Given the description of an element on the screen output the (x, y) to click on. 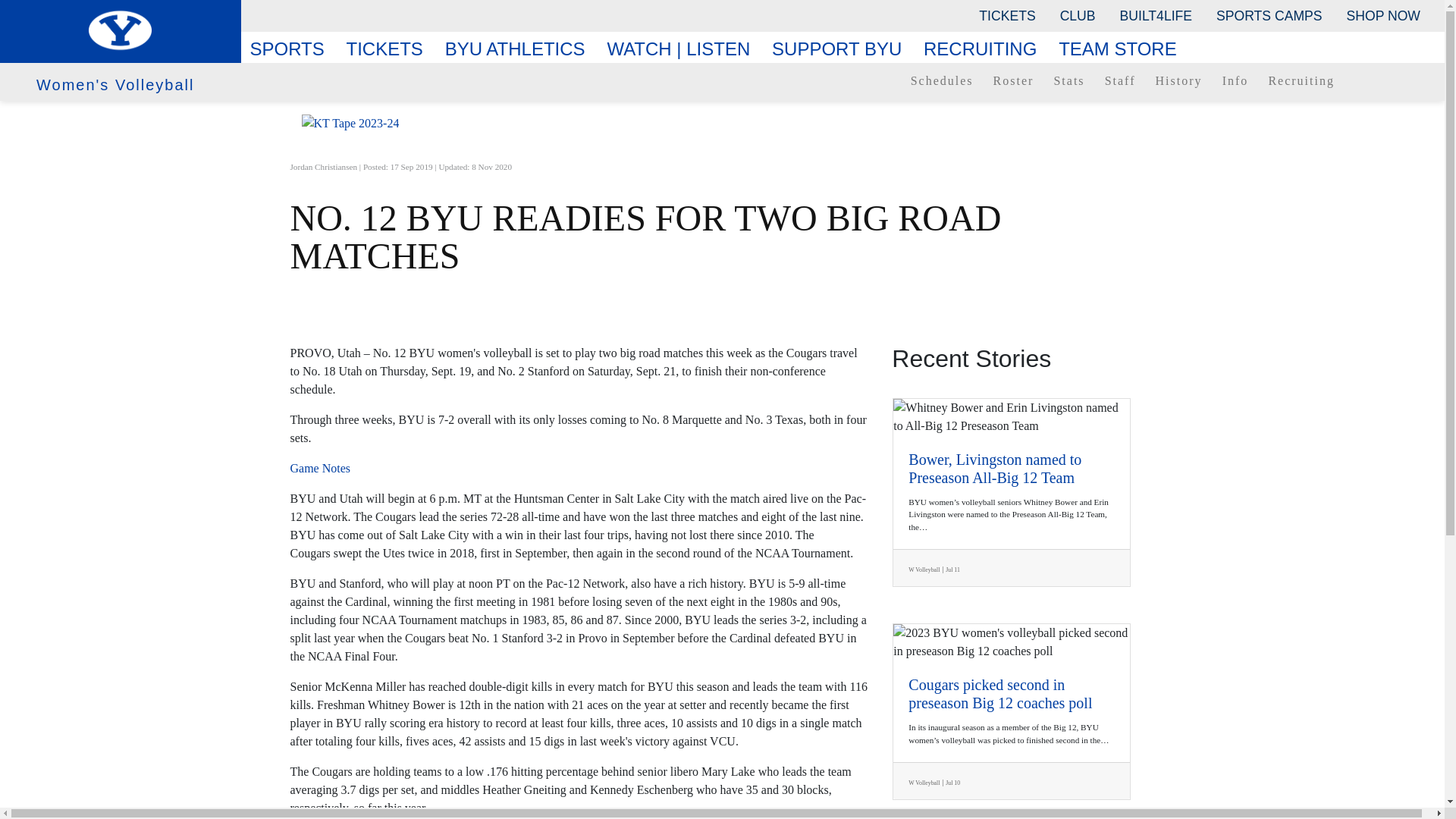
BUILT4LIFE (1156, 15)
TICKETS (1006, 15)
CLUB (1078, 15)
SHOP NOW (1383, 15)
SPORTS CAMPS (1268, 15)
SPORTS (292, 49)
